Given the description of an element on the screen output the (x, y) to click on. 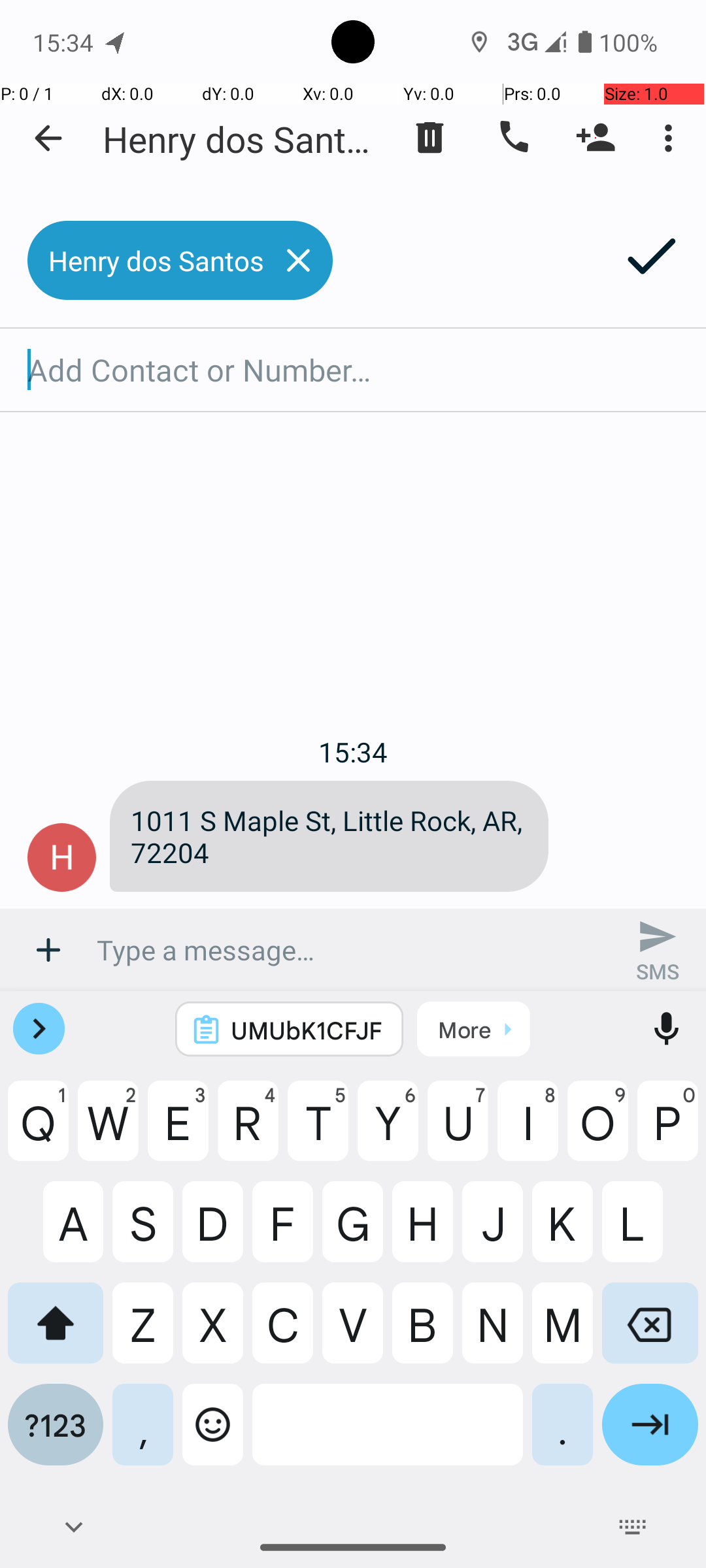
Henry dos Santos Element type: android.widget.TextView (241, 138)
Add Contact or Number… Element type: android.widget.AutoCompleteTextView (352, 369)
1011 S Maple St, Little Rock, AR, 72204 Element type: android.widget.TextView (328, 835)
